Given the description of an element on the screen output the (x, y) to click on. 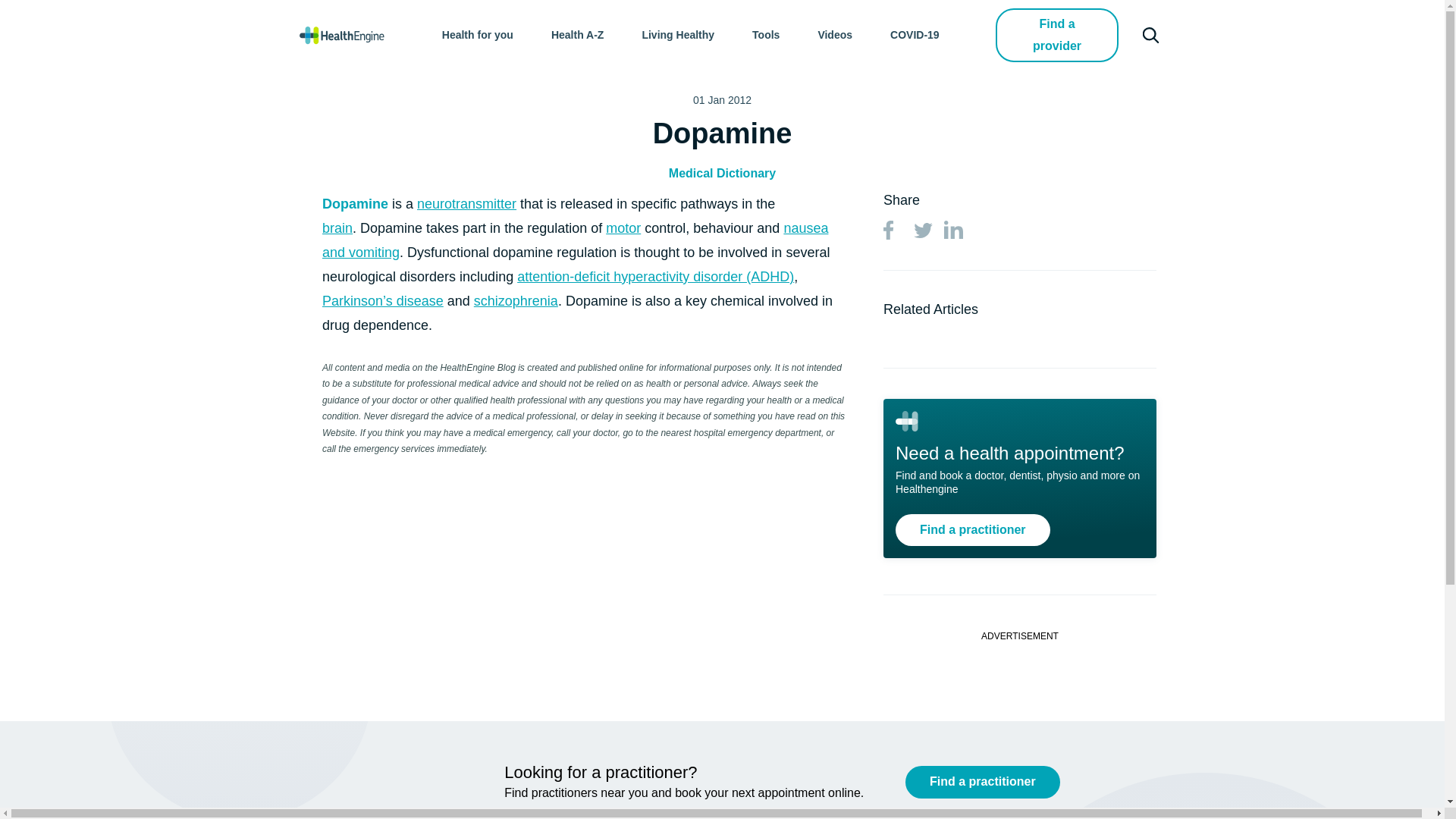
Healthengine Patient Blog (341, 34)
Health for you (477, 35)
Healthengine home page (341, 34)
Living Healthy (678, 35)
